Given the description of an element on the screen output the (x, y) to click on. 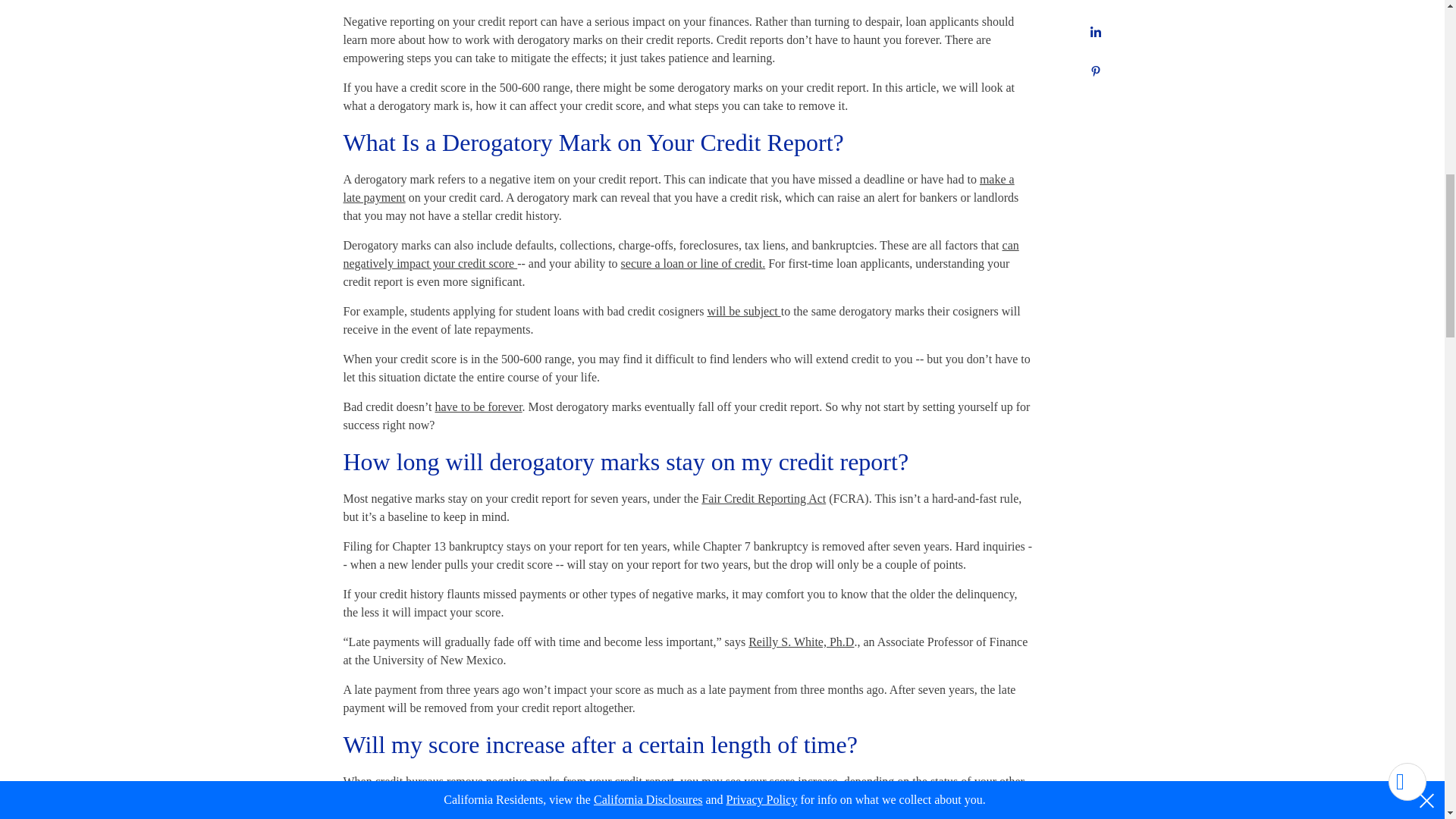
will be subject (743, 310)
make a late payment (677, 187)
have to be forever (478, 406)
can negatively impact your credit score (679, 254)
Reilly S. White, Ph.D (800, 641)
Fair Credit Reporting Act (763, 498)
secure a loan or line of credit. (693, 263)
